Given the description of an element on the screen output the (x, y) to click on. 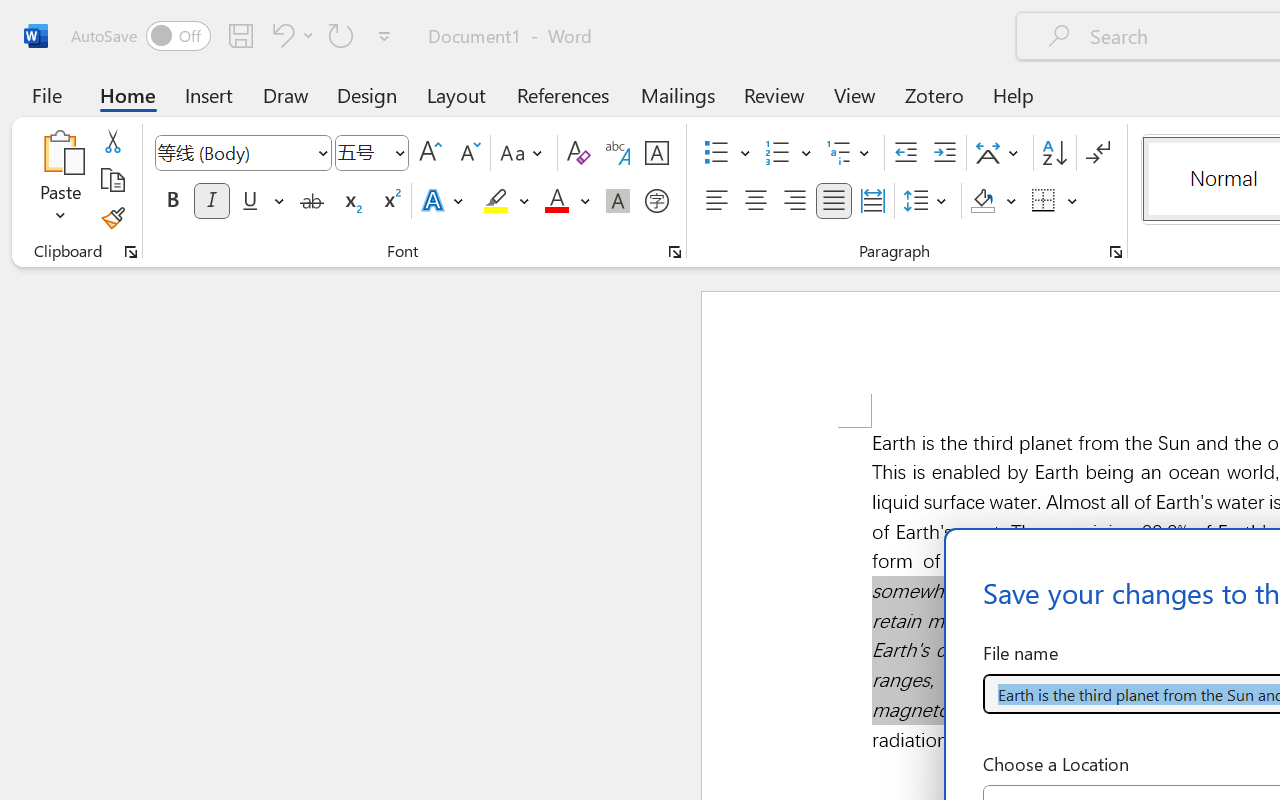
Office Clipboard... (131, 252)
Cut (112, 141)
Center (756, 201)
Increase Indent (944, 153)
Format Painter (112, 218)
Character Shading (618, 201)
Text Effects and Typography (444, 201)
Distributed (872, 201)
Italic (212, 201)
Open (399, 152)
